Given the description of an element on the screen output the (x, y) to click on. 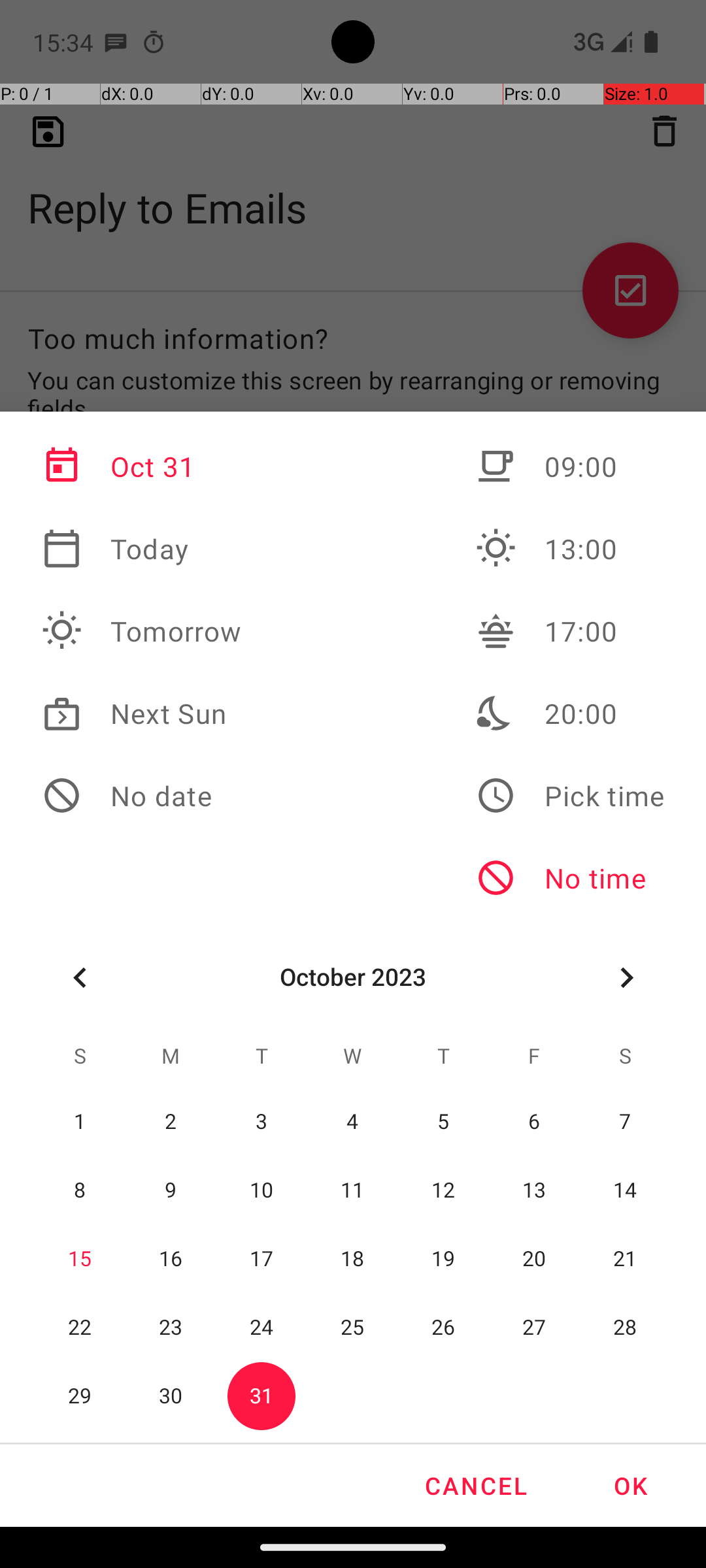
Oct 31 Element type: android.widget.CompoundButton (141, 466)
